Given the description of an element on the screen output the (x, y) to click on. 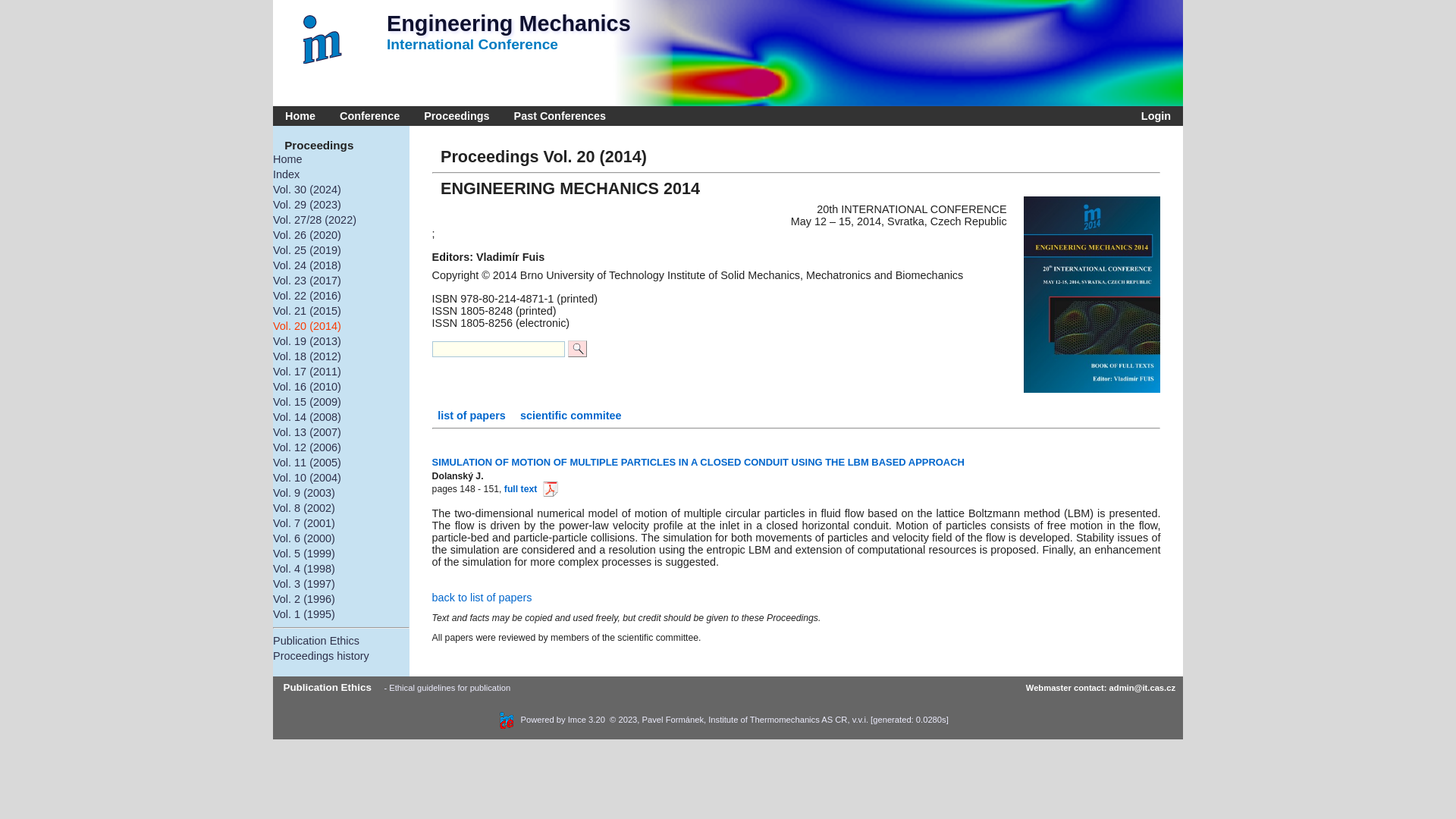
Home (300, 116)
IM (325, 39)
Proceedings (456, 116)
Index (341, 174)
Home (341, 159)
  Login (1152, 116)
